Given the description of an element on the screen output the (x, y) to click on. 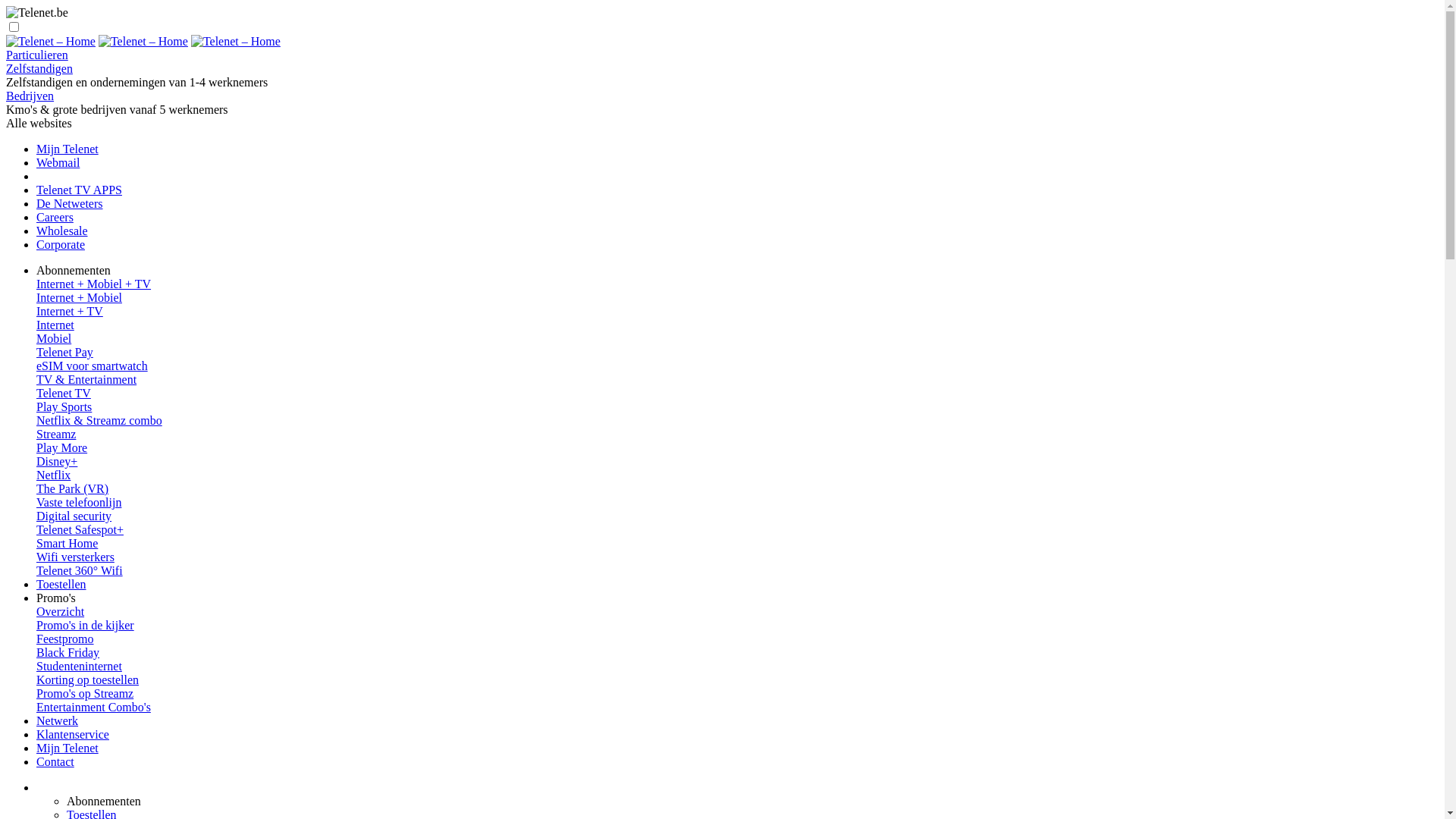
TV & Entertainment Element type: text (737, 379)
Digital security Element type: text (737, 516)
Netwerk Element type: text (57, 720)
Telenet TV APPS Element type: text (79, 189)
Bedrijven Element type: text (29, 95)
Telenet Safespot+ Element type: text (79, 529)
Internet Element type: text (737, 325)
Internet + TV Element type: text (737, 311)
Play More Element type: text (61, 447)
Feestpromo Element type: text (65, 638)
eSIM voor smartwatch Element type: text (91, 365)
Internet + Mobiel + TV Element type: text (737, 284)
Toestellen Element type: text (61, 583)
Webmail Element type: text (57, 162)
Contact Element type: text (55, 761)
Promo's in de kijker Element type: text (85, 624)
Internet + Mobiel Element type: text (737, 297)
Promo's Element type: text (55, 597)
Overzicht Element type: text (737, 611)
Abonnementen Element type: text (103, 800)
Particulieren Element type: text (37, 54)
Streamz Element type: text (55, 433)
Wholesale Element type: text (61, 230)
Entertainment Combo's Element type: text (93, 706)
Netflix & Streamz combo Element type: text (99, 420)
Corporate Element type: text (60, 244)
Smart Home Element type: text (737, 543)
Studenteninternet Element type: text (79, 665)
Mijn Telenet Element type: text (67, 747)
Disney+ Element type: text (56, 461)
Mobiel Element type: text (737, 338)
Netflix Element type: text (53, 474)
Abonnementen Element type: text (73, 269)
Zelfstandigen Element type: text (39, 68)
Telenet Pay Element type: text (64, 351)
Careers Element type: text (54, 216)
Vaste telefoonlijn Element type: text (737, 502)
De Netweters Element type: text (69, 203)
The Park (VR) Element type: text (72, 488)
Promo's op Streamz Element type: text (84, 693)
Mijn Telenet Element type: text (67, 148)
Korting op toestellen Element type: text (87, 679)
Play Sports Element type: text (63, 406)
Wifi versterkers Element type: text (737, 557)
Black Friday Element type: text (67, 652)
Telenet TV Element type: text (63, 392)
Klantenservice Element type: text (72, 734)
